Given the description of an element on the screen output the (x, y) to click on. 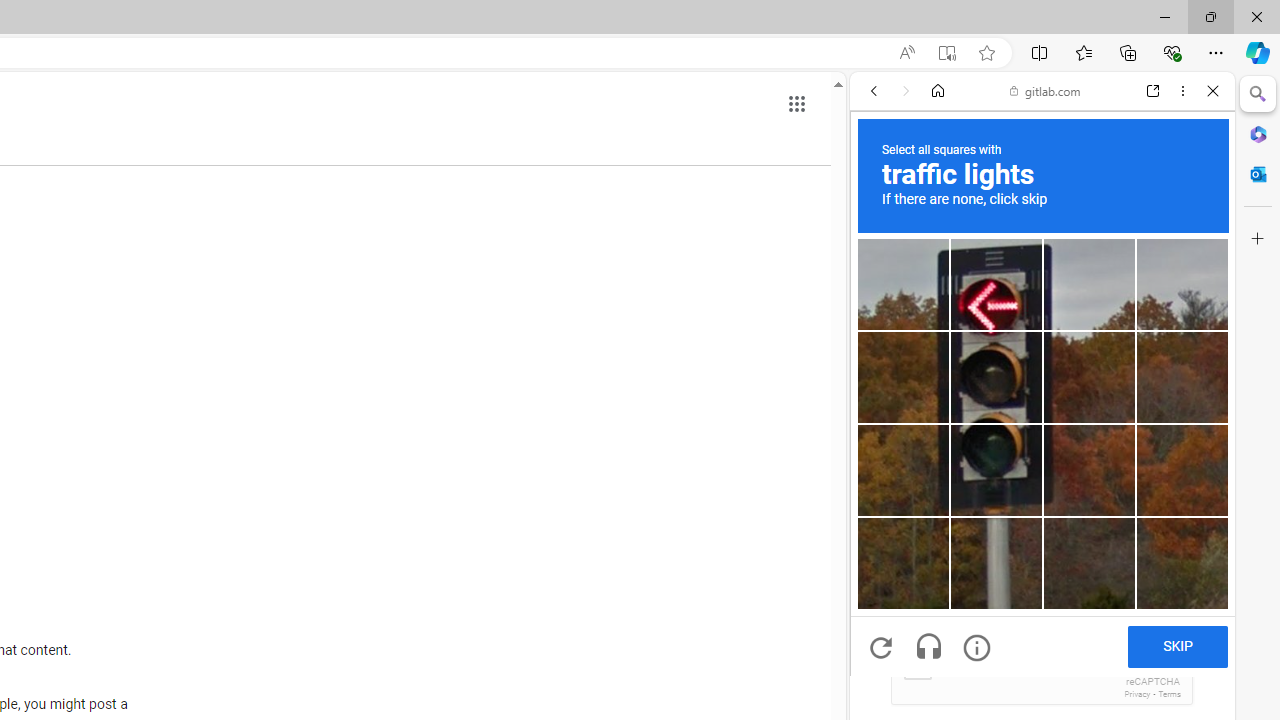
GitLab (1034, 288)
Email (1042, 530)
Confirmation Page (1042, 684)
GitLab.com (1042, 333)
About GitLab (1042, 592)
Terms (1169, 694)
